Given the description of an element on the screen output the (x, y) to click on. 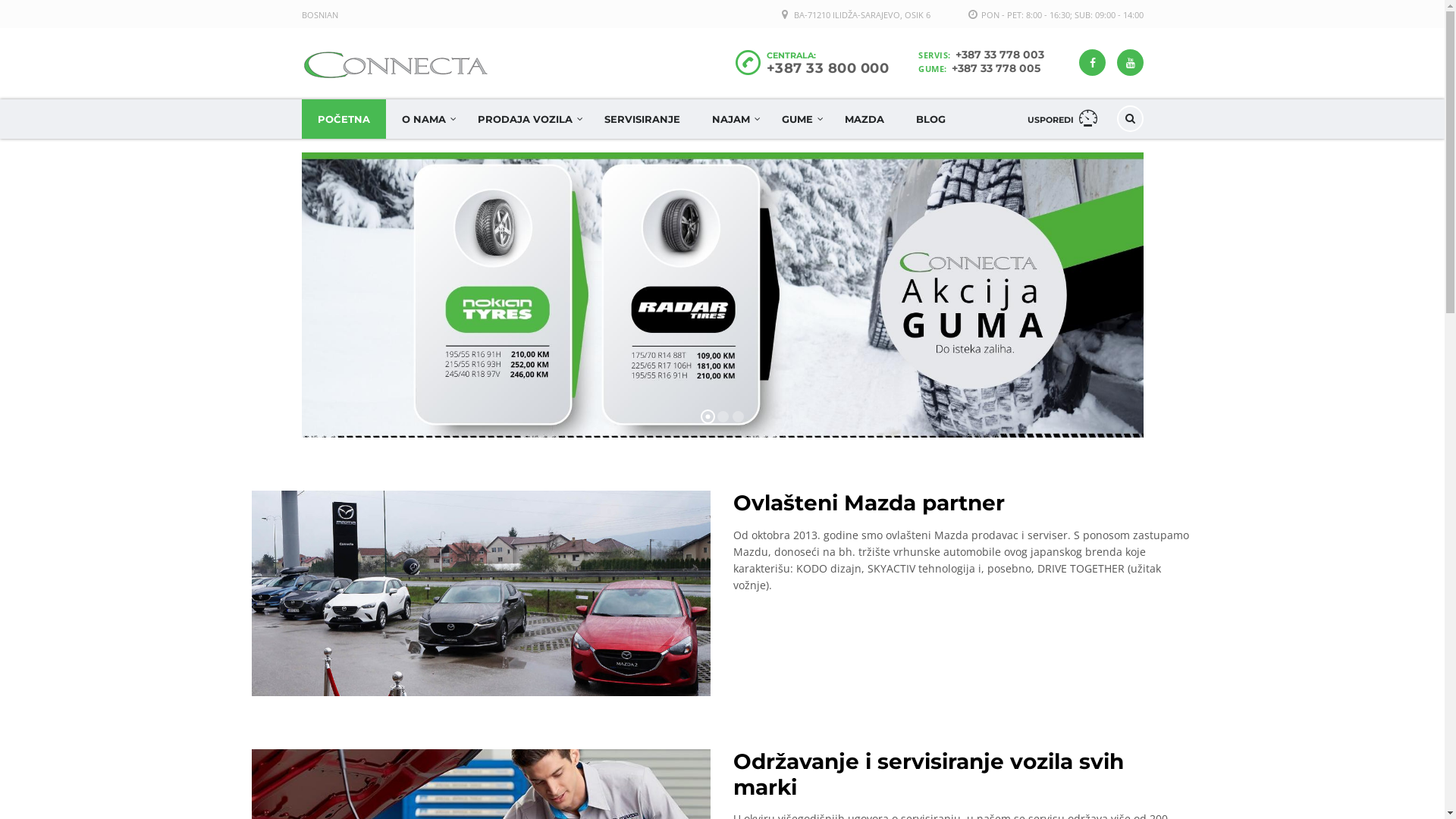
O NAMA Element type: text (423, 118)
+387 33 778 003 Element type: text (999, 54)
NAJAM Element type: text (730, 118)
GUME Element type: text (796, 118)
+387 33 778 005 Element type: text (994, 68)
+387 33 800 000 Element type: text (826, 67)
Home Element type: hover (396, 64)
PRODAJA VOZILA Element type: text (524, 118)
SERVISIRANJE Element type: text (642, 118)
USPOREDI Element type: text (1062, 118)
BLOG Element type: text (929, 118)
MAZDA Element type: text (863, 118)
